Given the description of an element on the screen output the (x, y) to click on. 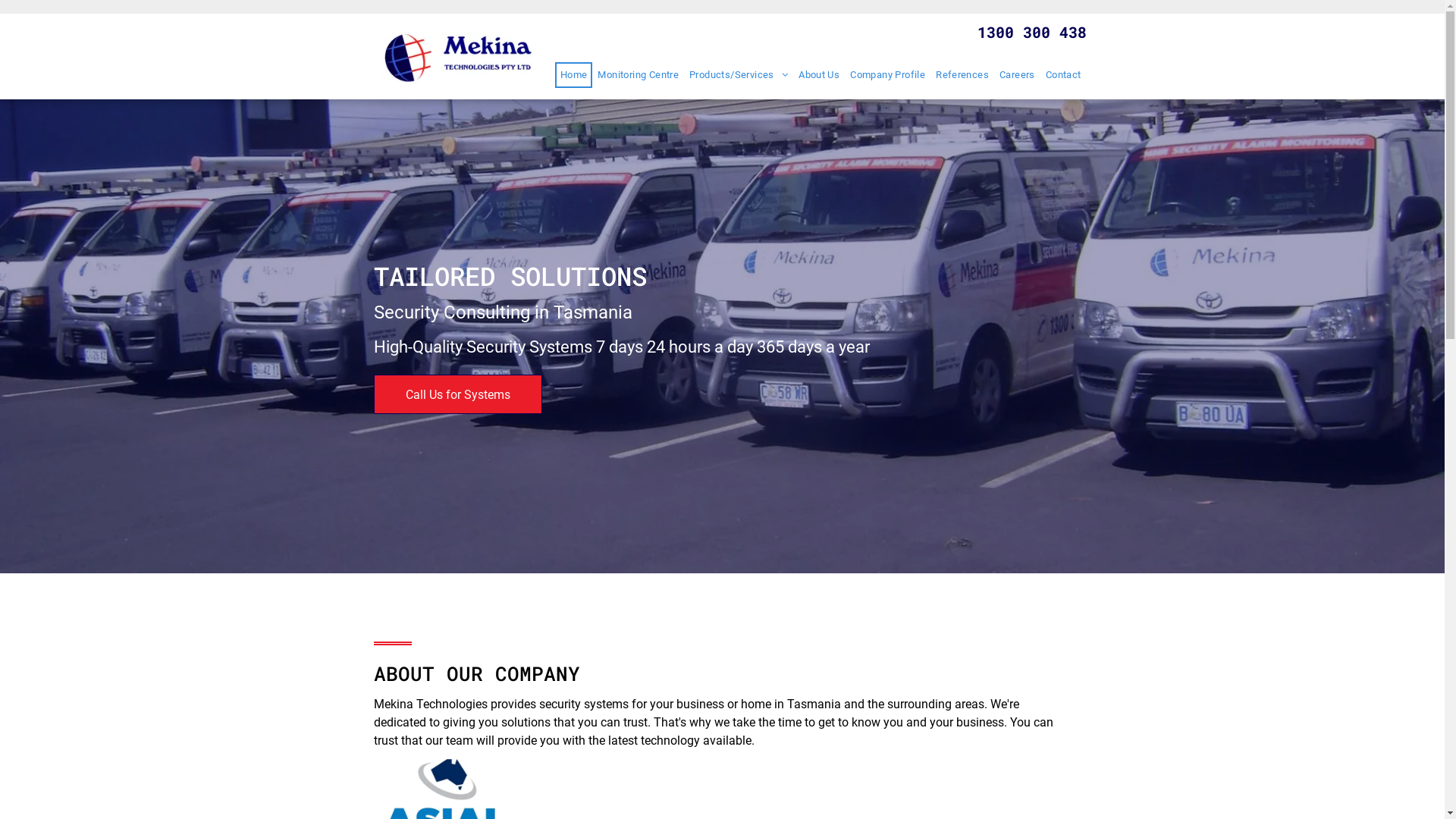
Products/Services Element type: text (738, 74)
Careers Element type: text (1017, 74)
1300 300 438 Element type: text (1030, 31)
Call Us for Systems Element type: text (457, 394)
Home Element type: text (574, 74)
References Element type: text (962, 74)
About Us Element type: text (818, 74)
Company Profile Element type: text (887, 74)
Monitoring Centre Element type: text (638, 74)
Contact Element type: text (1063, 74)
